Given the description of an element on the screen output the (x, y) to click on. 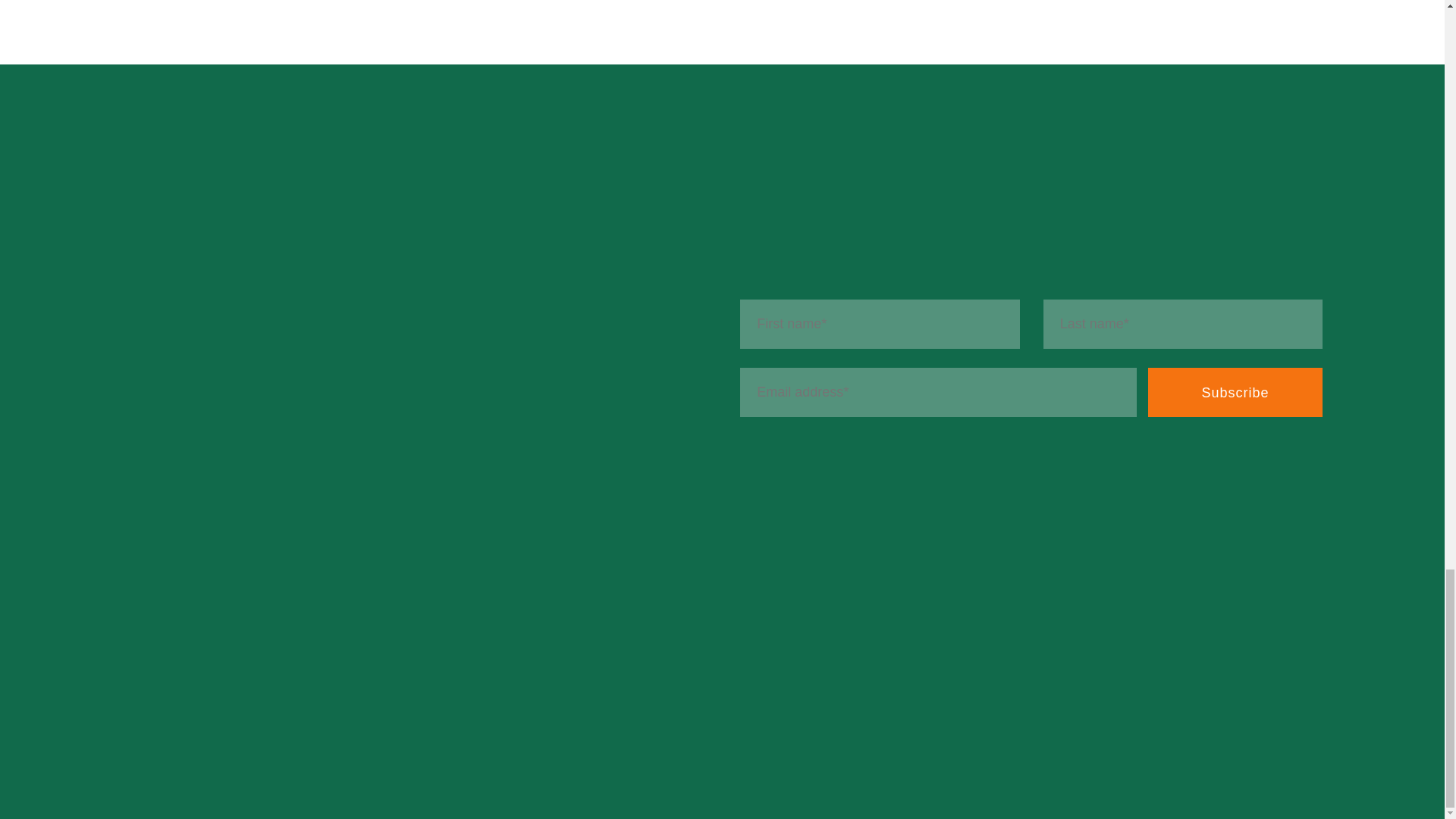
Subscribe (1235, 391)
